Given the description of an element on the screen output the (x, y) to click on. 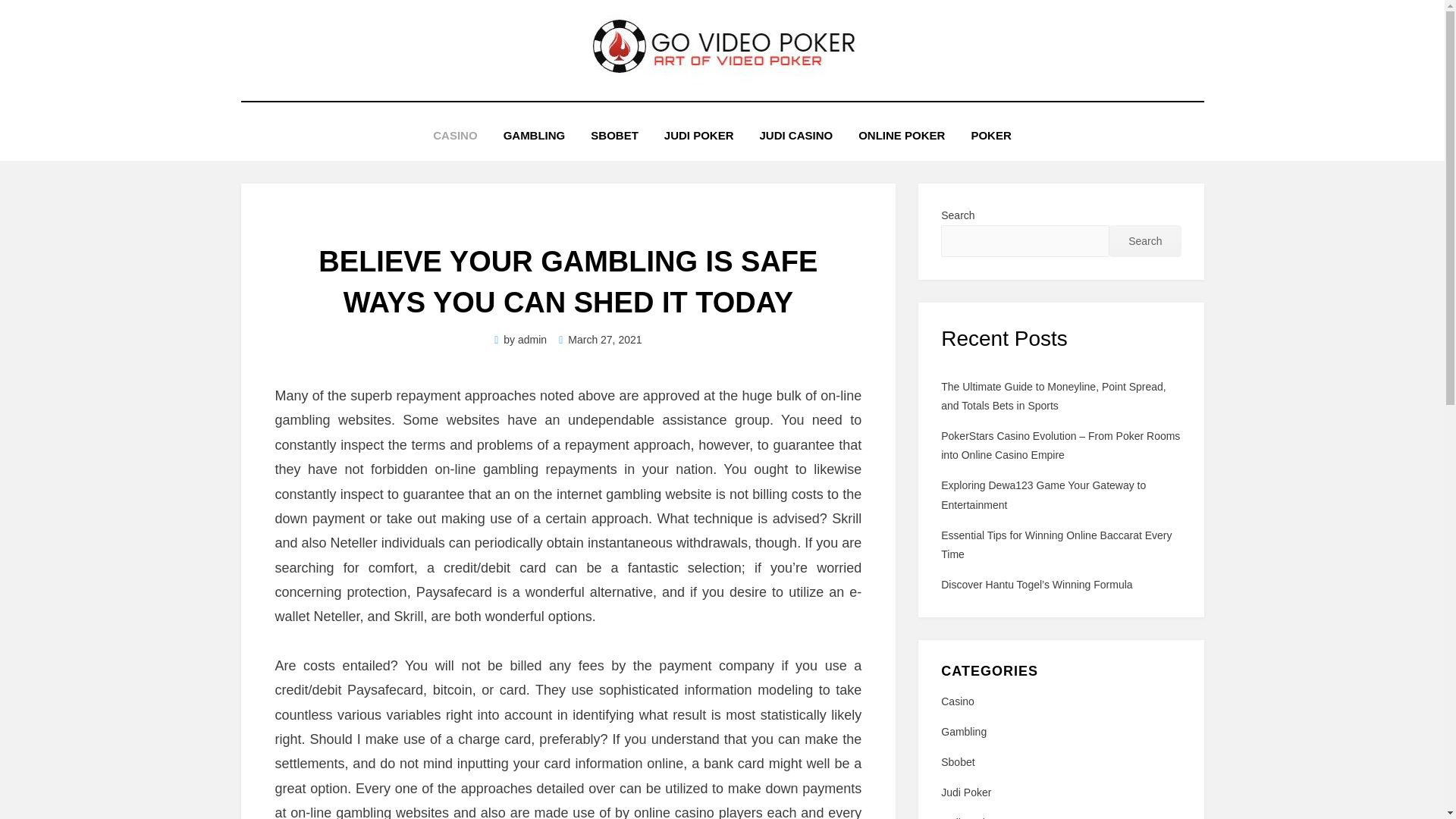
Judi Casino (1060, 816)
Search (1144, 241)
GAMBLING (534, 135)
Judi Poker (1060, 792)
Casino (1060, 701)
POKER (990, 135)
Sbobet (1060, 762)
CASINO (454, 135)
SBOBET (614, 135)
admin (532, 339)
JUDI CASINO (795, 135)
Gambling (1060, 732)
ONLINE POKER (901, 135)
March 27, 2021 (600, 339)
